Given the description of an element on the screen output the (x, y) to click on. 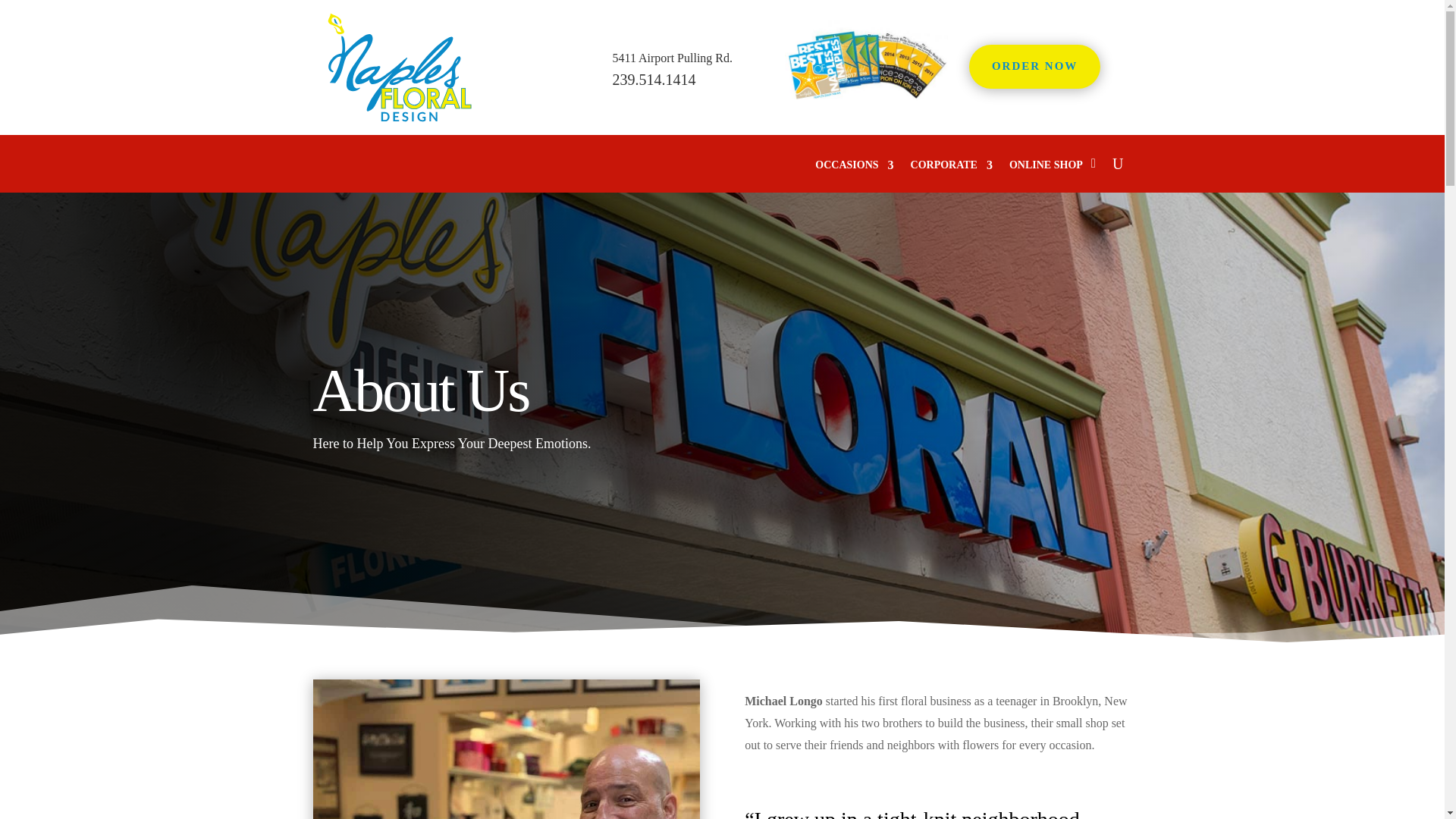
ORDER NOW (1034, 66)
OCCASIONS (854, 175)
CORPORATE (951, 175)
ONLINE SHOP (1046, 175)
